Given the description of an element on the screen output the (x, y) to click on. 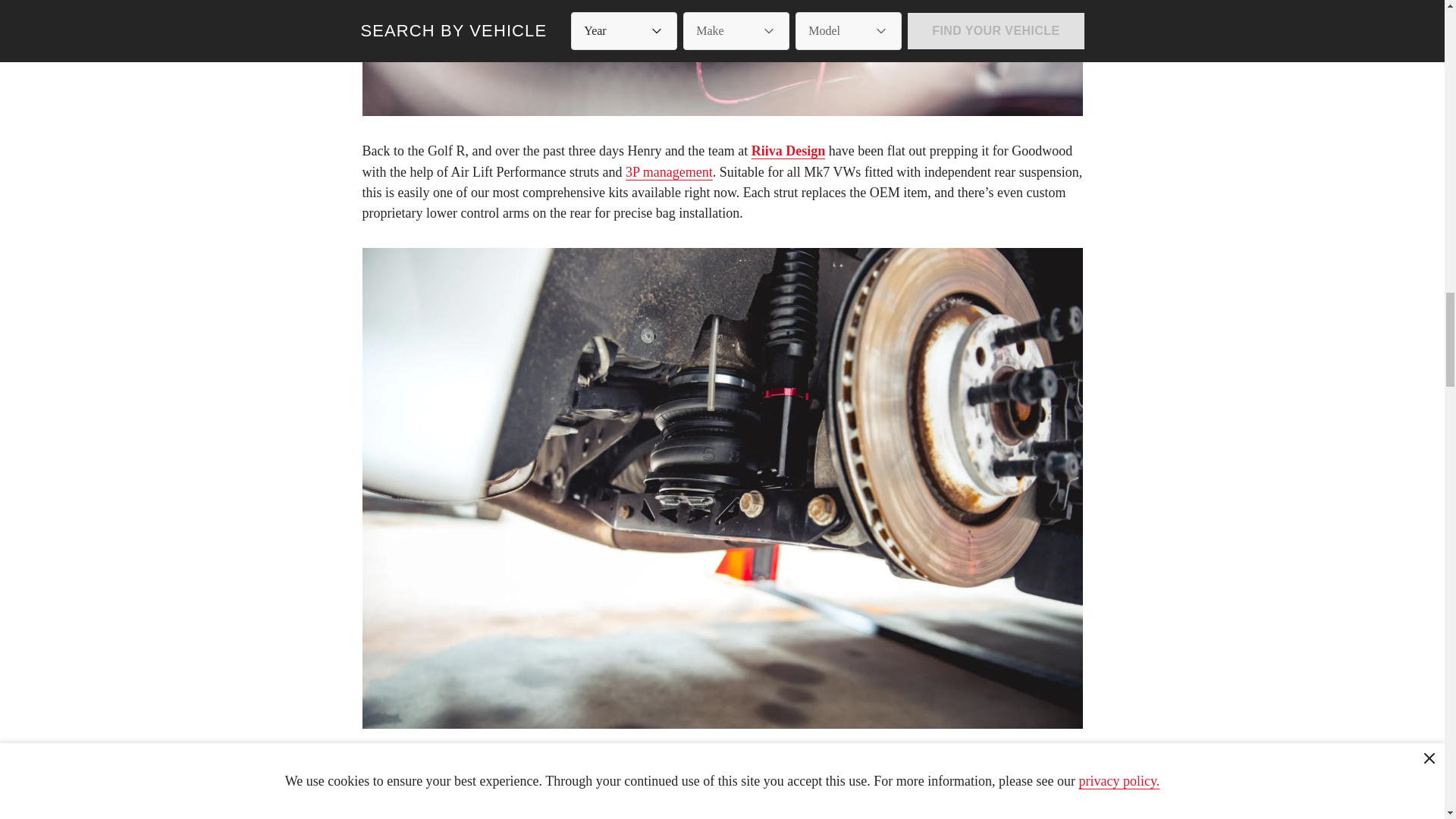
twist beam rear suspension too! (966, 783)
Riiva Design (788, 150)
3P management (669, 171)
